Given the description of an element on the screen output the (x, y) to click on. 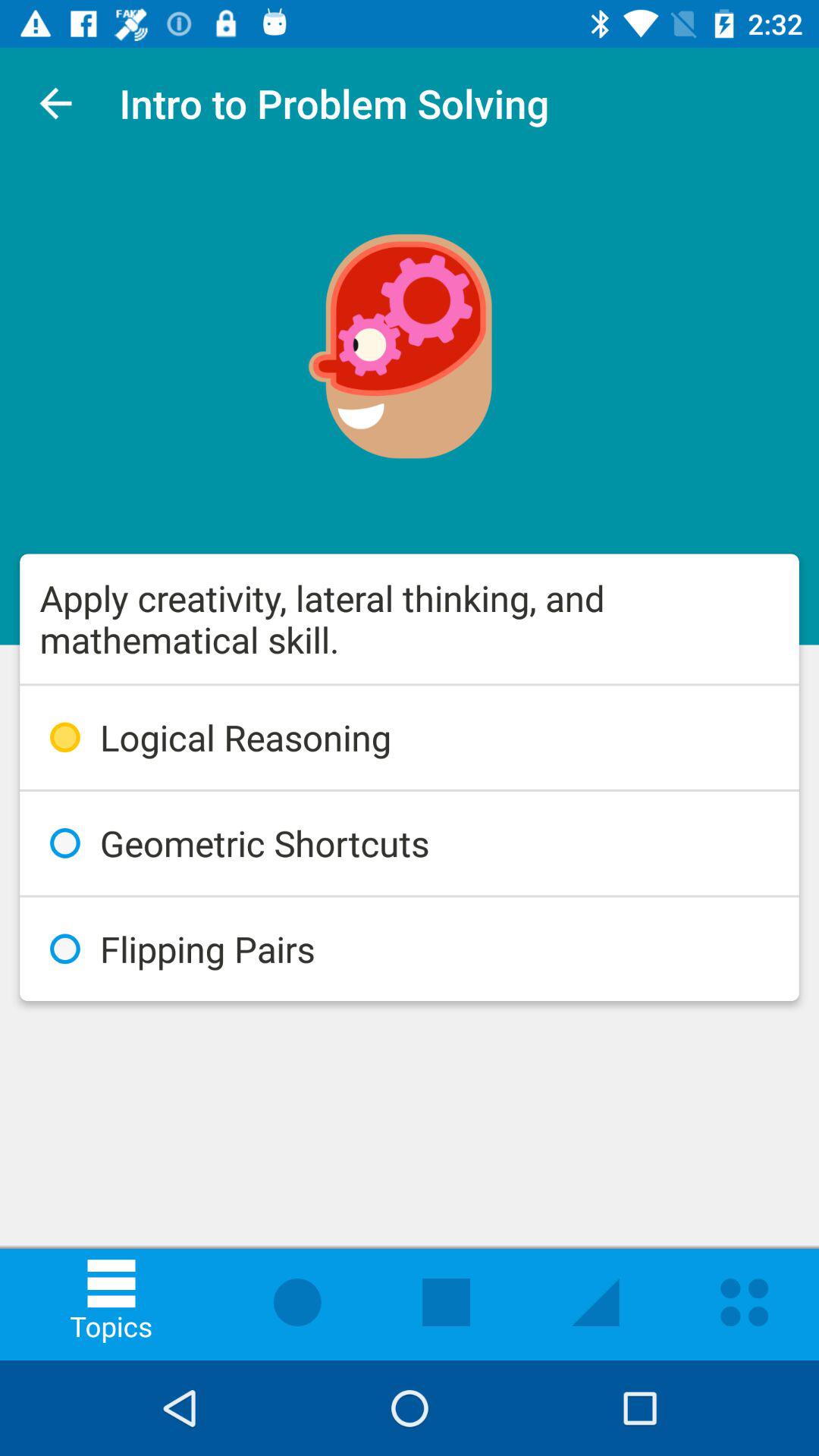
click geometric shortcuts icon (409, 843)
